Given the description of an element on the screen output the (x, y) to click on. 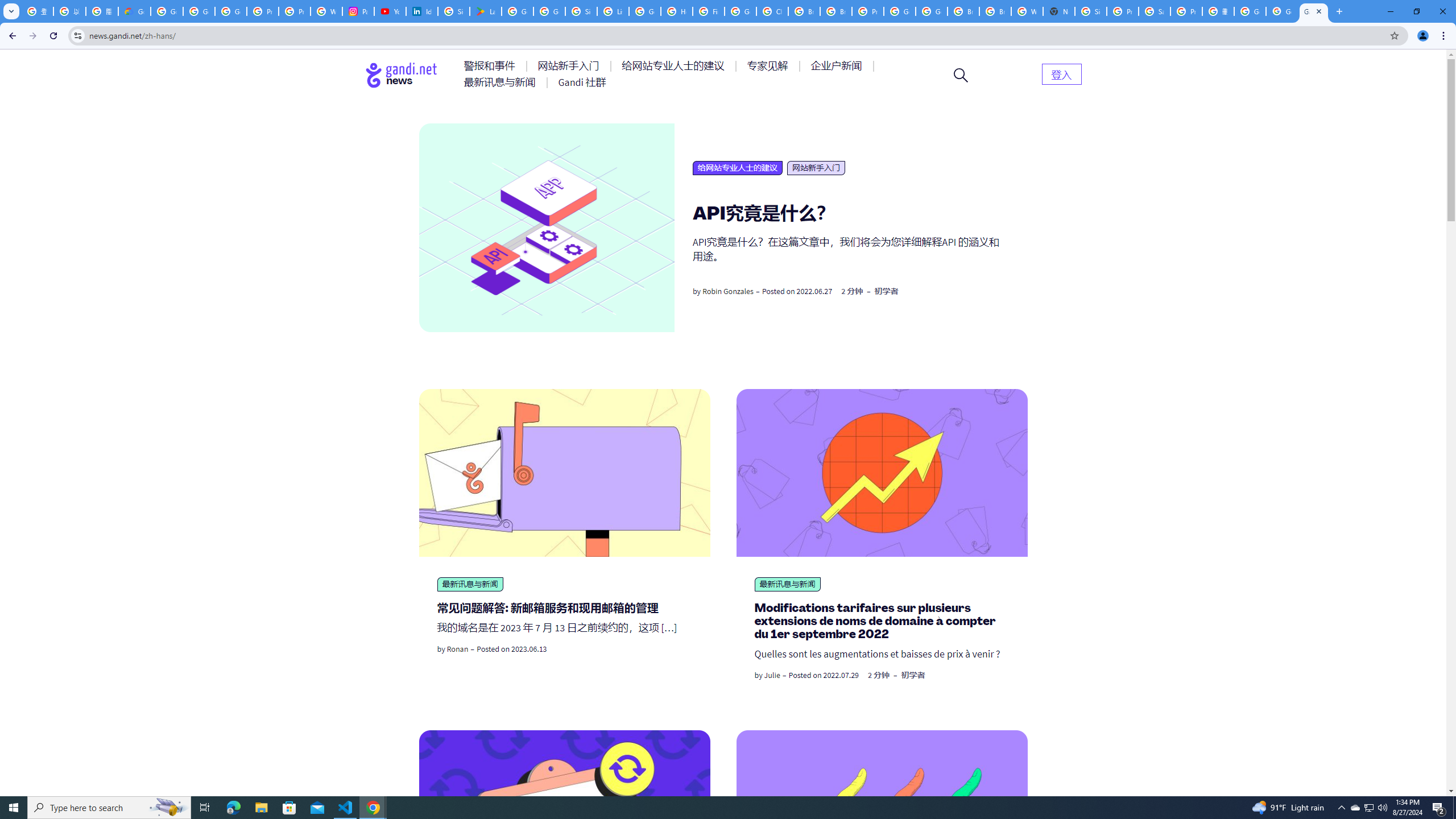
AutomationID: menu-item-77762 (570, 65)
AutomationID: menu-item-77761 (492, 65)
